Given the description of an element on the screen output the (x, y) to click on. 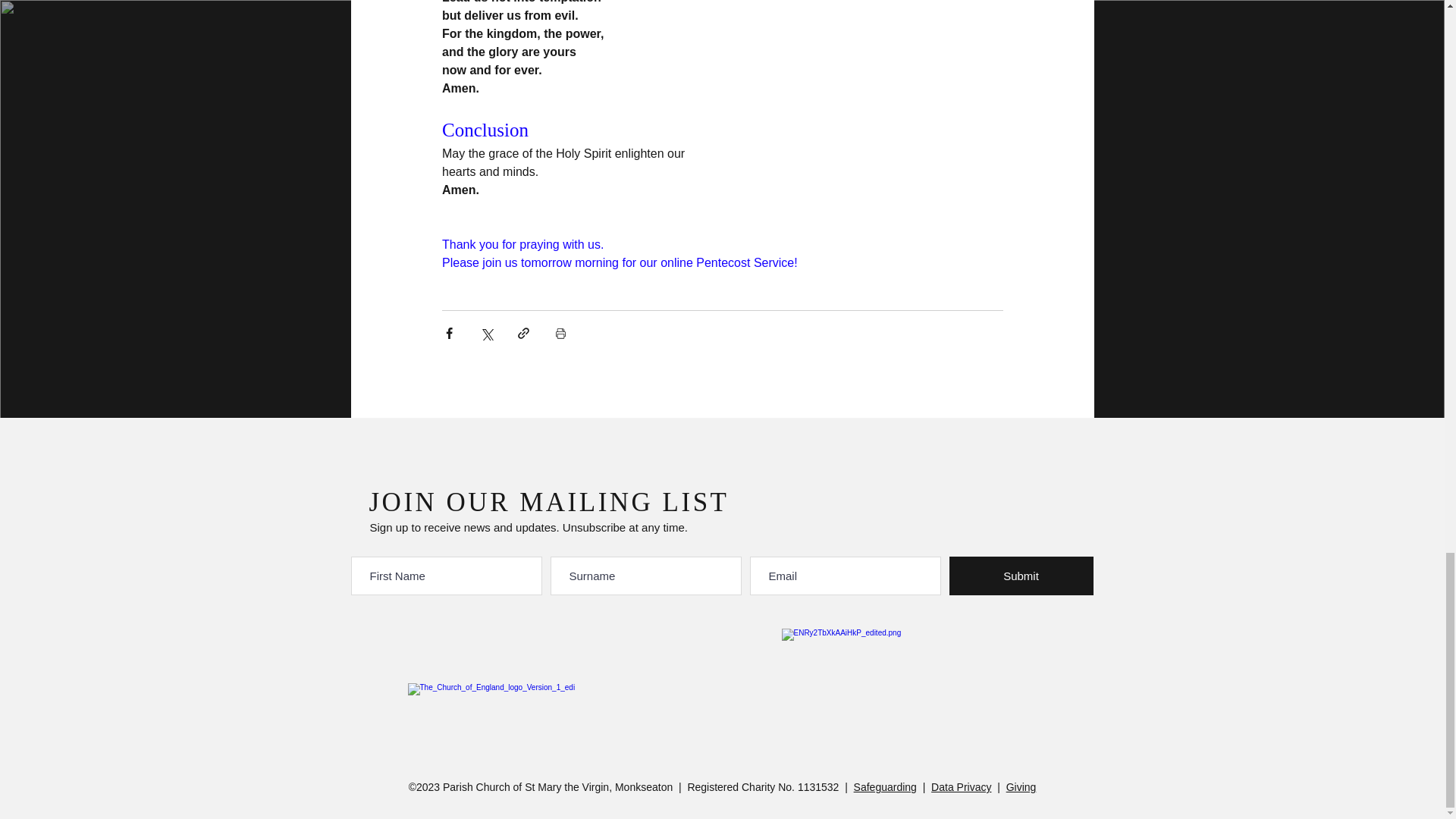
Data Privacy (961, 787)
Safeguarding (885, 787)
Submit (1021, 575)
Giving (1021, 787)
